Given the description of an element on the screen output the (x, y) to click on. 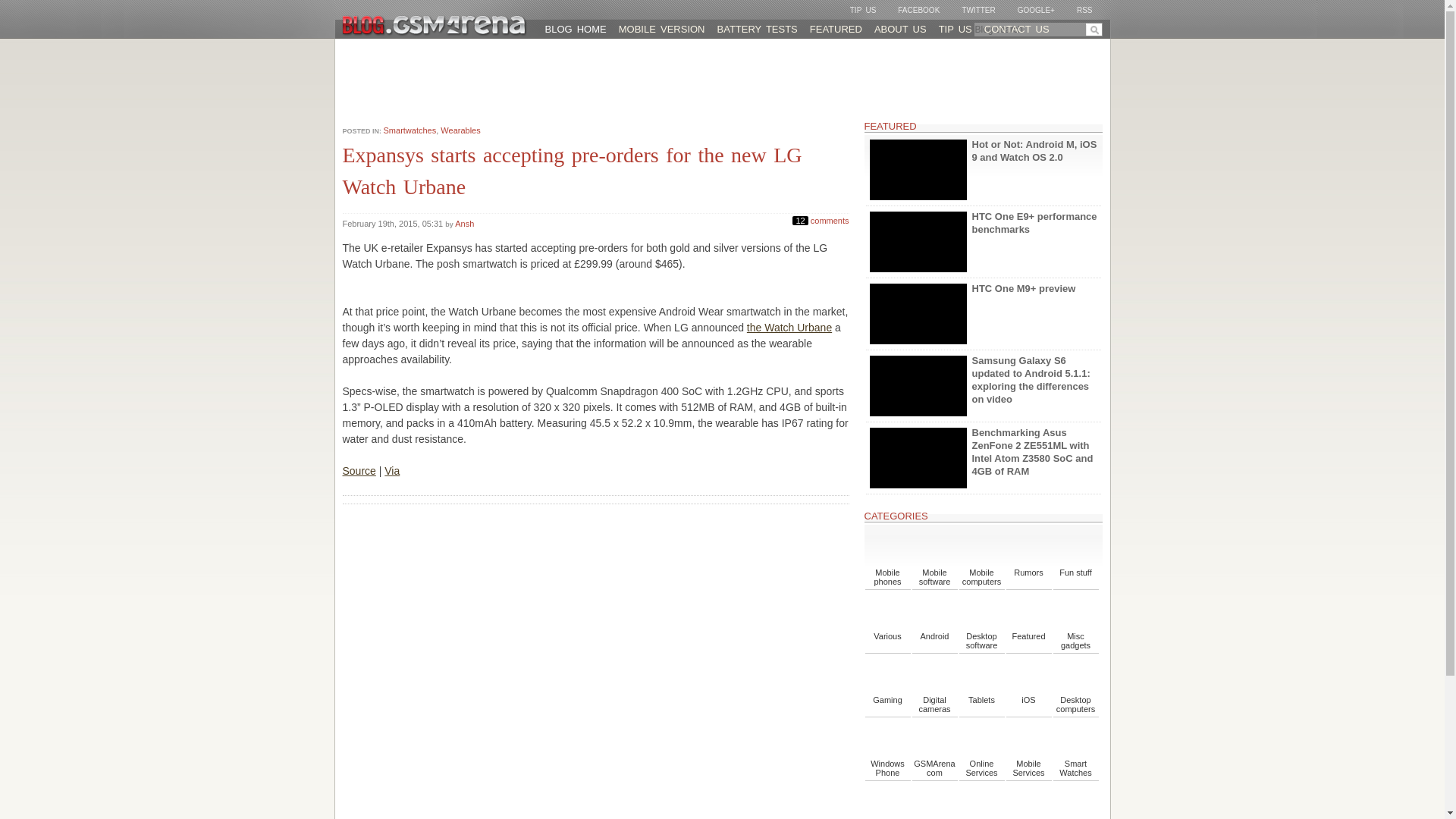
Blog search (1038, 29)
Smartwatches (410, 130)
BATTERY TESTS (757, 28)
Wearables (460, 130)
TWITTER (971, 10)
Via (391, 470)
TIP US (856, 10)
12 comments (820, 218)
FACEBOOK (912, 10)
